Given the description of an element on the screen output the (x, y) to click on. 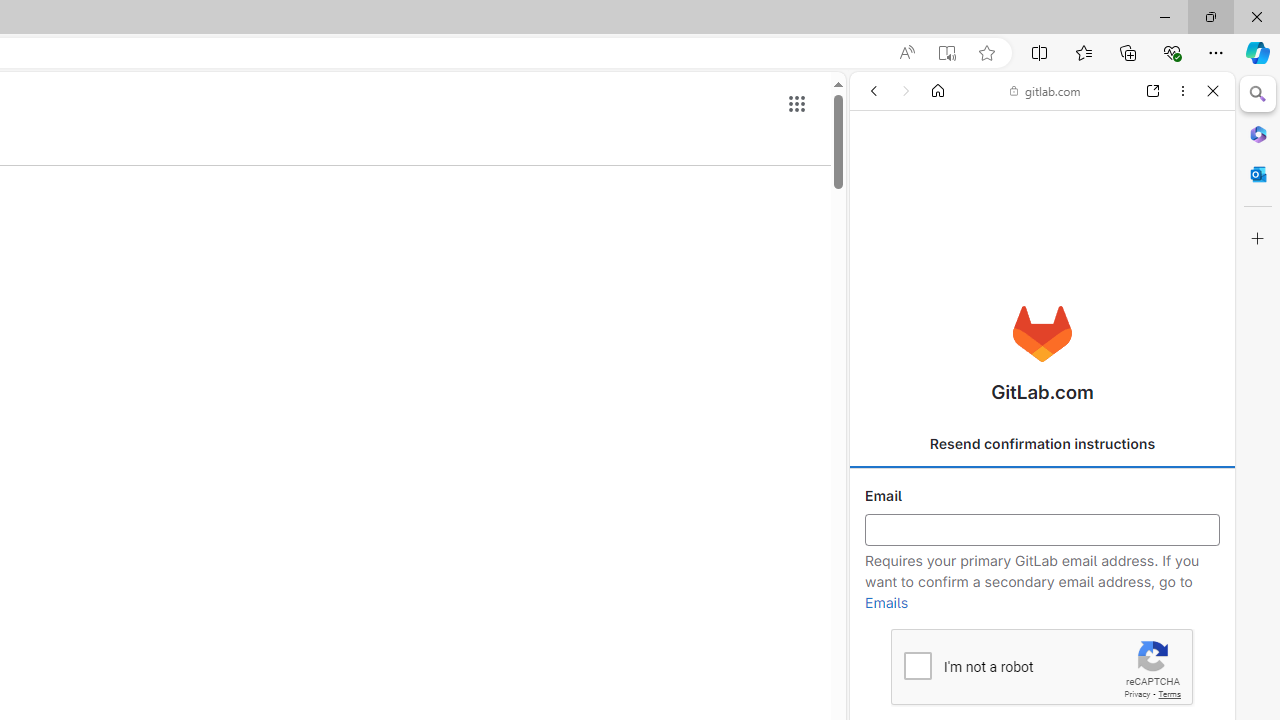
Email (1042, 530)
Emails (886, 603)
Login (1042, 494)
Confirmation Page (1042, 684)
Search Filter, ALL (881, 228)
Register Now (1042, 445)
Login (1042, 494)
